Given the description of an element on the screen output the (x, y) to click on. 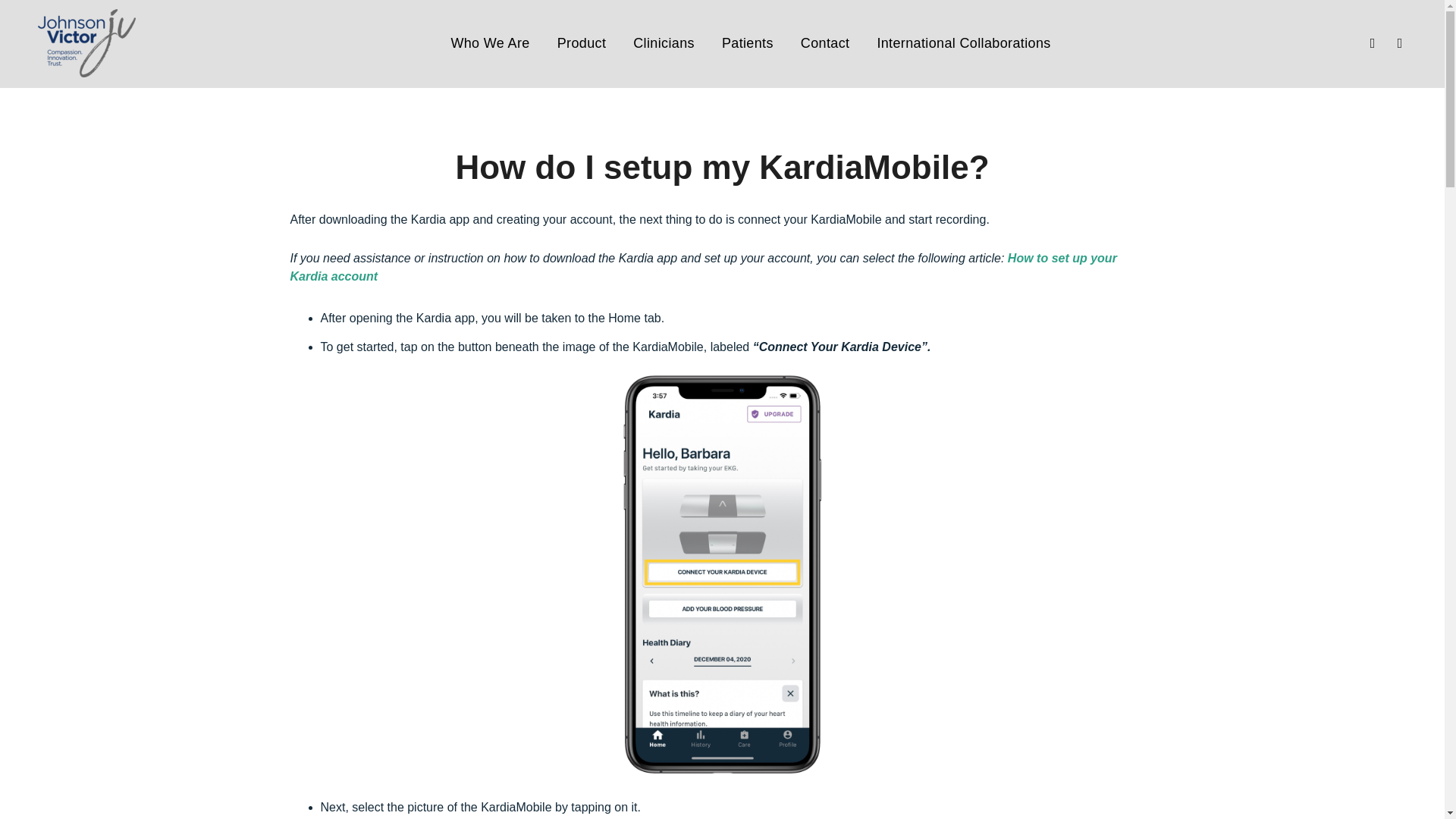
Product (582, 2)
Clinicians (663, 11)
International Collaborations (962, 18)
How to set up your Kardia account (702, 266)
Contact (825, 16)
Patients (747, 15)
